Given the description of an element on the screen output the (x, y) to click on. 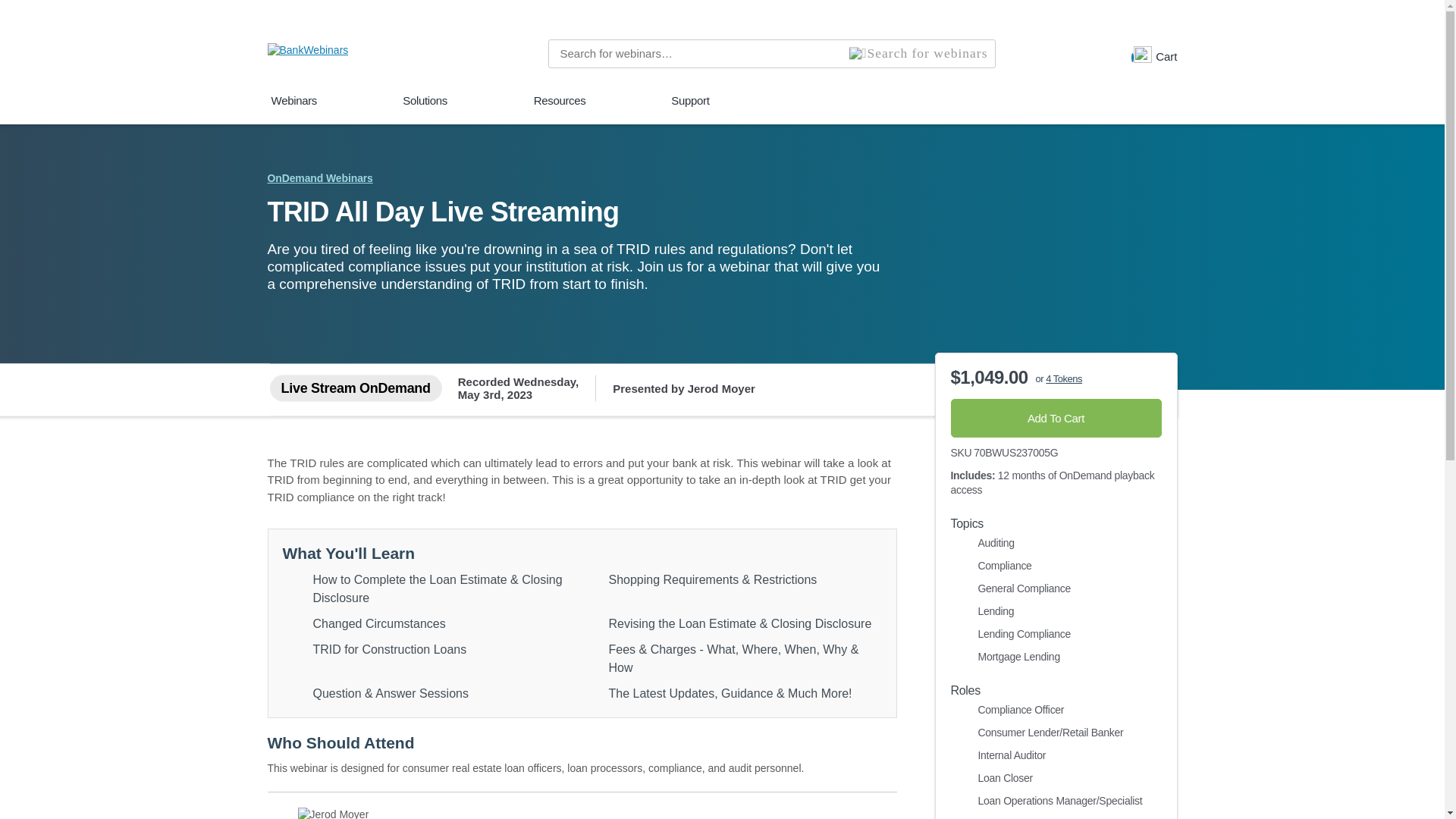
Search (917, 53)
BankWebinars (306, 53)
Solutions (424, 107)
Webinars (1153, 54)
Resources (293, 107)
